Given the description of an element on the screen output the (x, y) to click on. 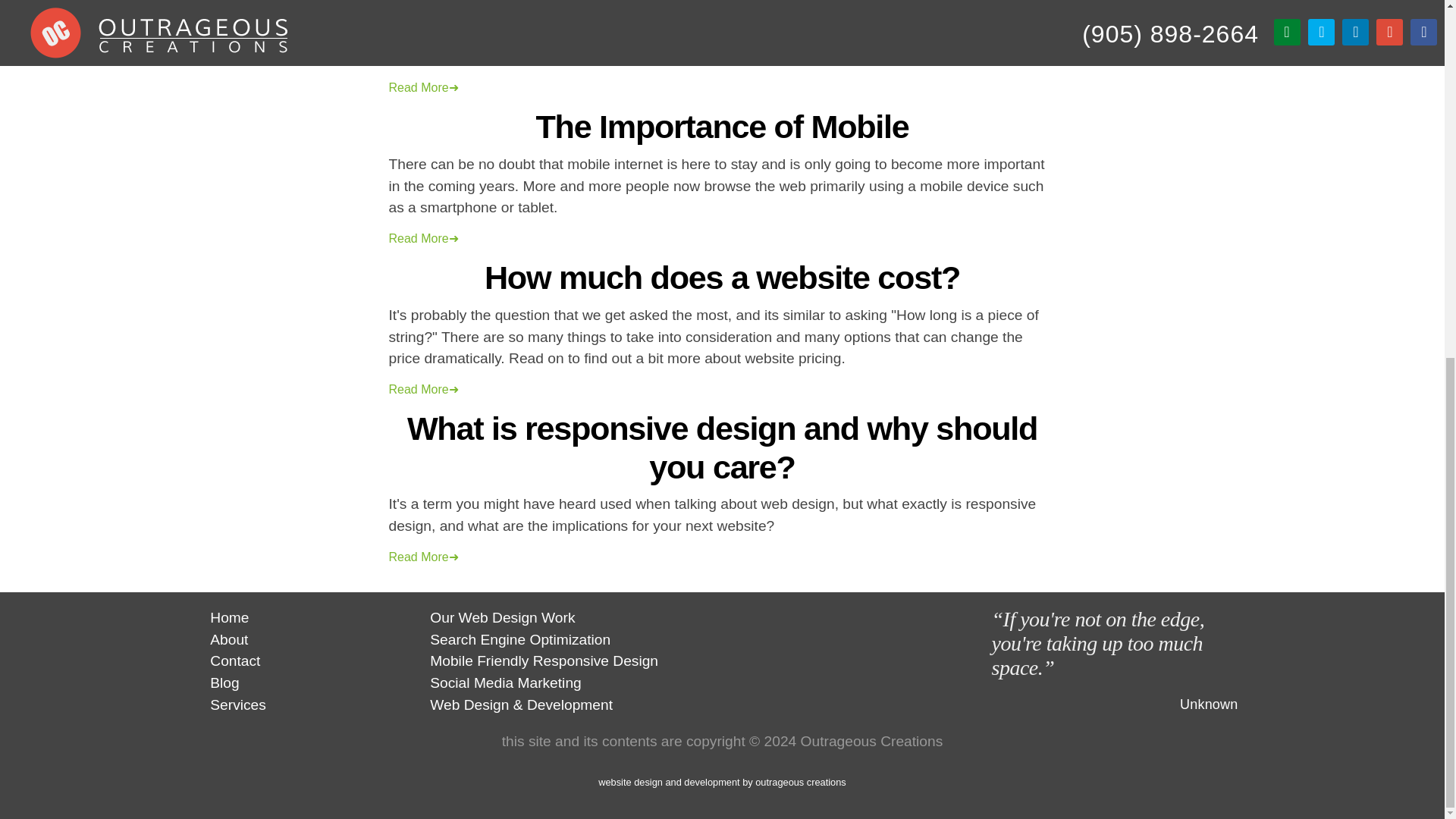
Home (228, 617)
How much does a website cost? (721, 277)
Contact (234, 660)
About (228, 639)
What is responsive design and why should you care? (721, 447)
The Importance of Mobile (721, 126)
